Given the description of an element on the screen output the (x, y) to click on. 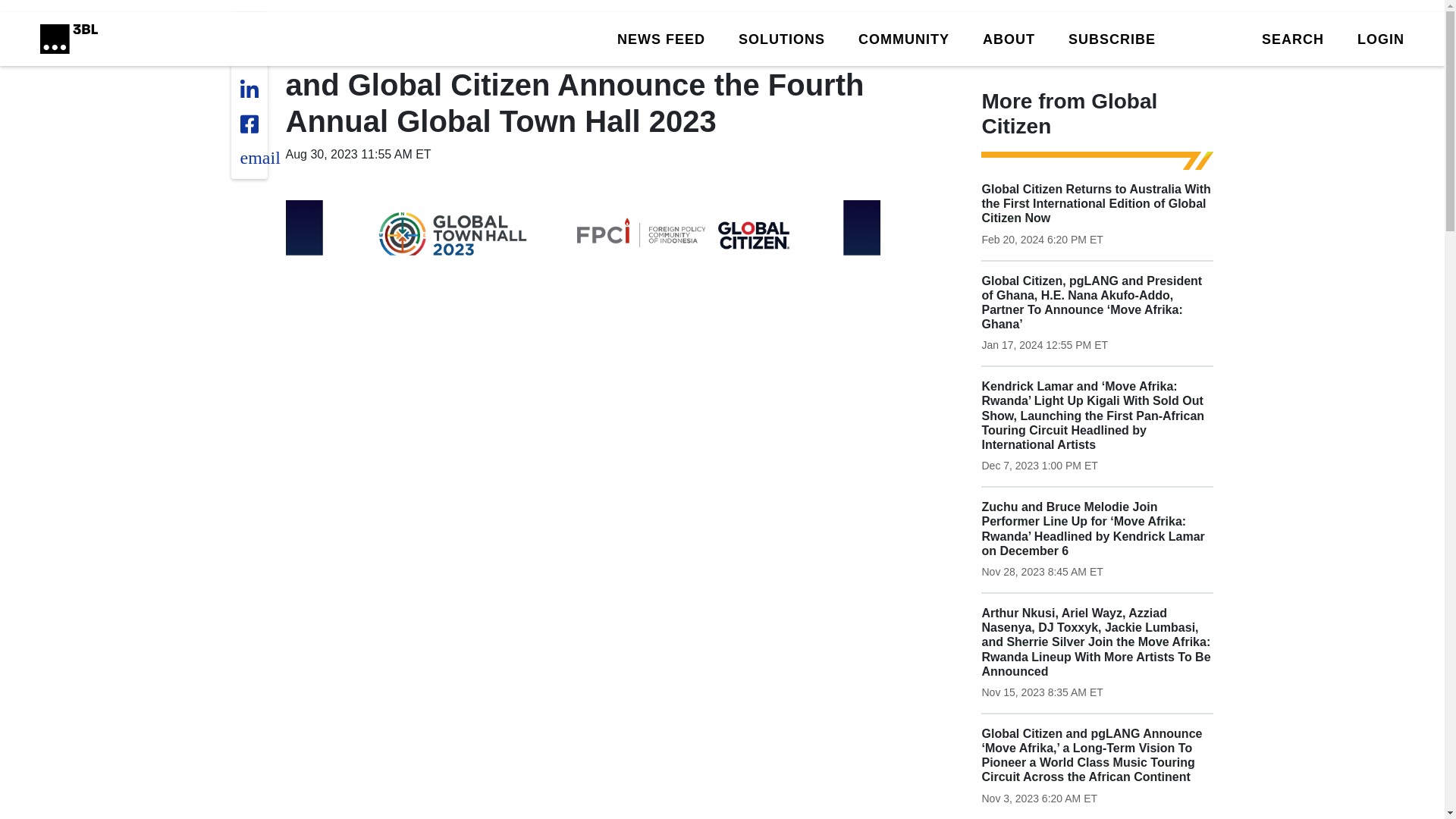
SOLUTIONS (781, 38)
SUBSCRIBE (1112, 38)
link to 3 B L Media's Twitter (253, 33)
COMMUNITY (904, 38)
ABOUT (1008, 38)
Share via email (259, 157)
NEWS FEED (660, 38)
